Given the description of an element on the screen output the (x, y) to click on. 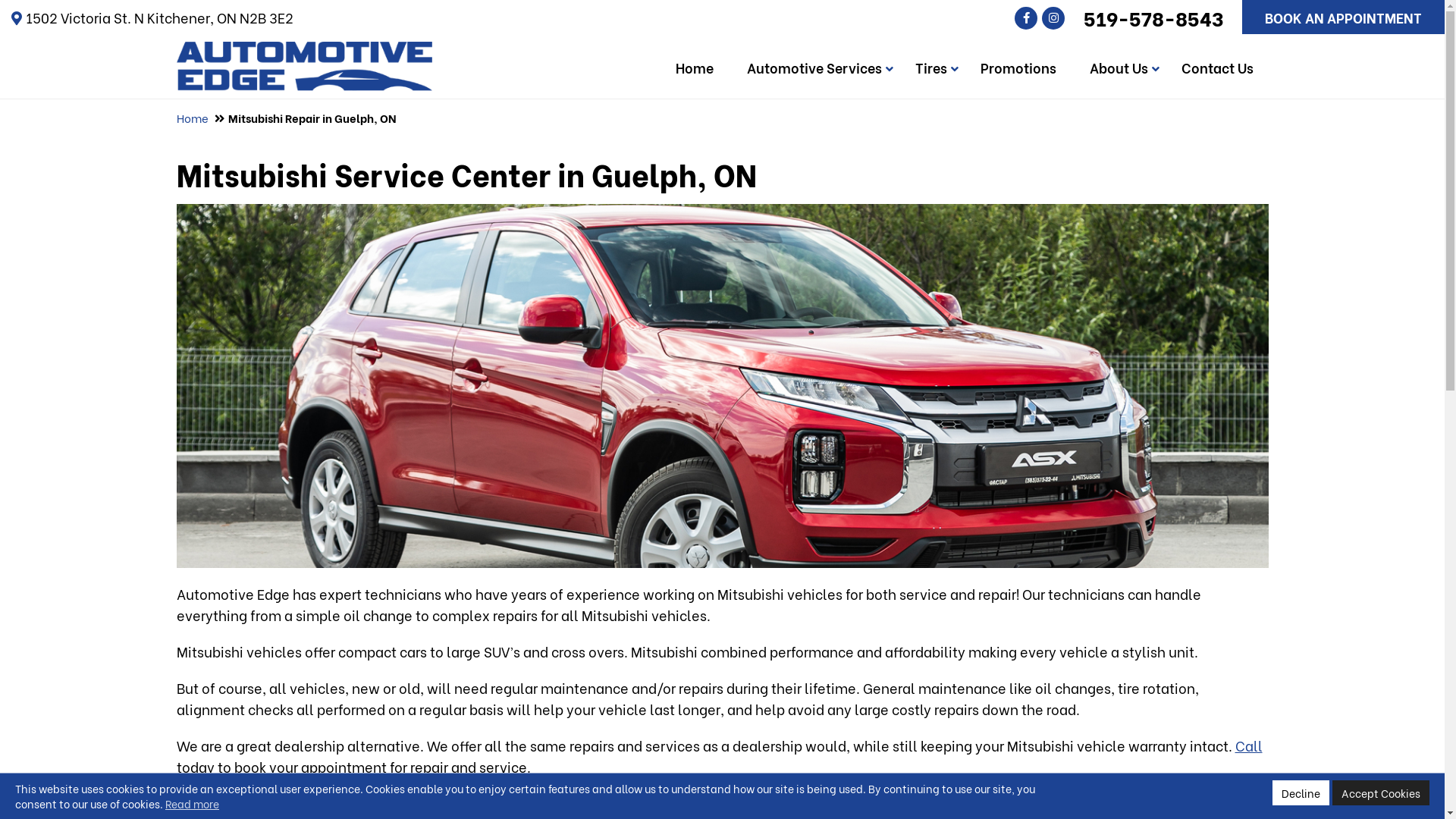
Call Element type: text (1247, 744)
BOOK AN APPOINTMENT Element type: text (1343, 17)
Read more Element type: text (192, 803)
Home Element type: text (191, 117)
Decline Element type: text (1300, 792)
Promotions Element type: text (1017, 67)
Automotive Services Element type: text (813, 67)
Contact Us Element type: text (1217, 67)
Home Element type: text (693, 67)
About Us Element type: text (1117, 67)
Automotive Edge Element type: hover (303, 51)
Tires Element type: text (930, 67)
519-578-8543 Element type: text (1153, 17)
Accept Cookies Element type: text (1380, 792)
